Given the description of an element on the screen output the (x, y) to click on. 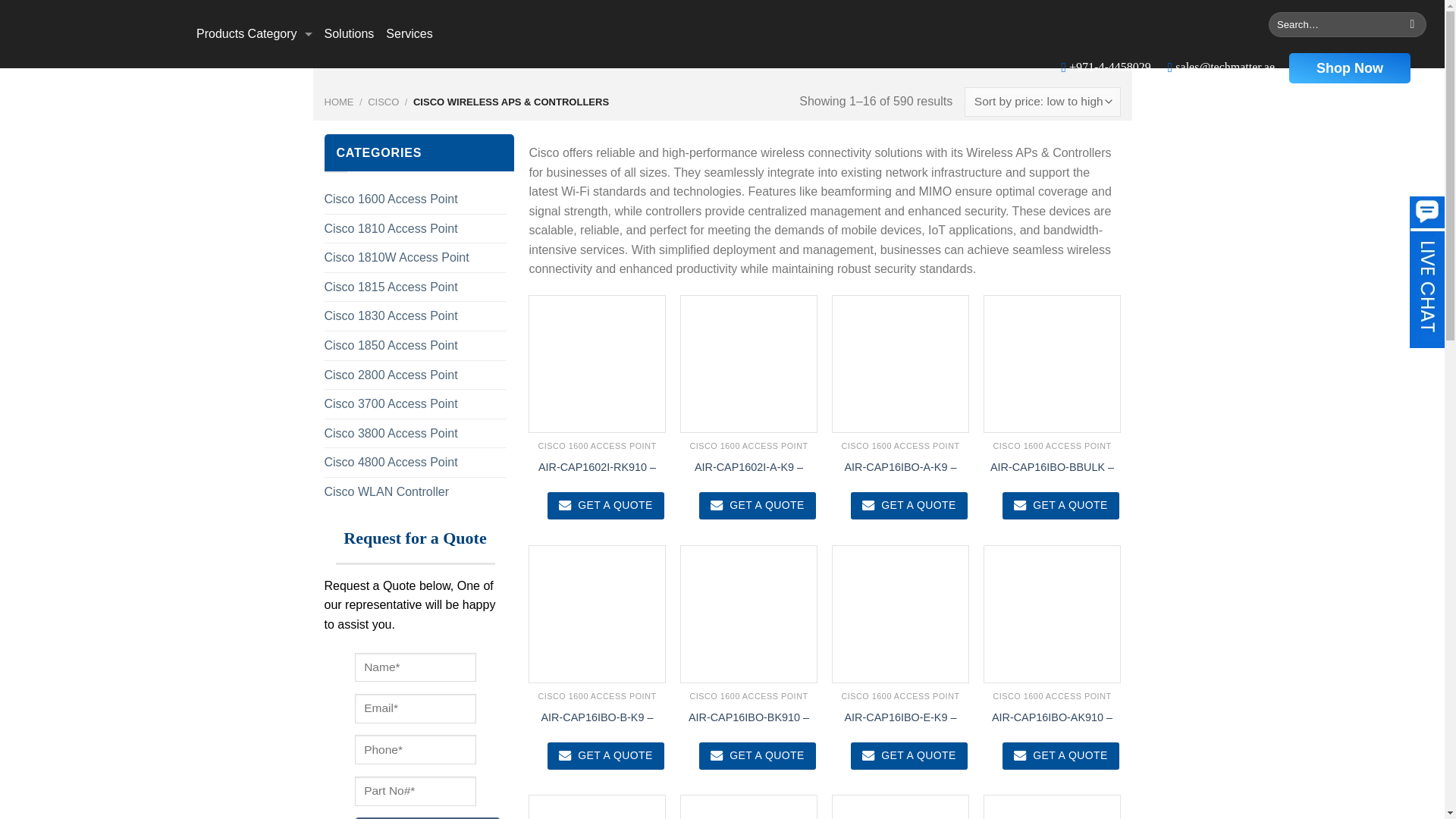
Products Category (254, 34)
Submit (427, 818)
